Given the description of an element on the screen output the (x, y) to click on. 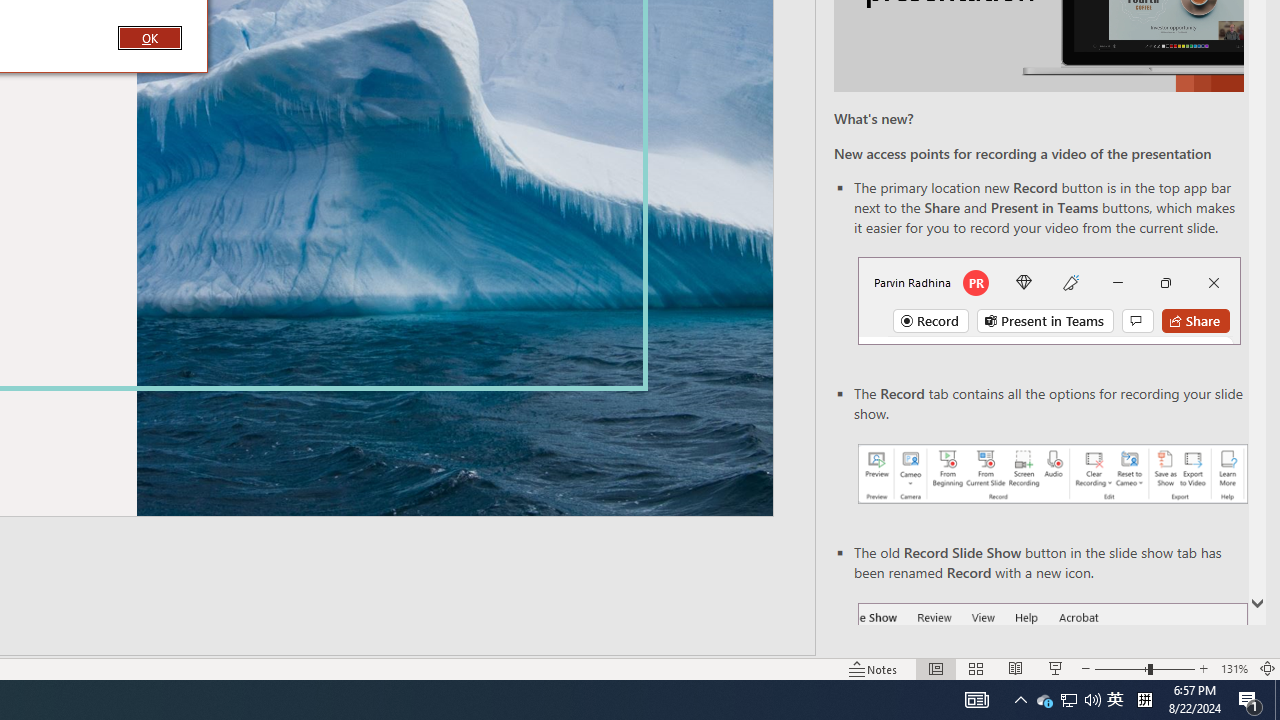
Action Center, 1 new notification (1250, 699)
